Given the description of an element on the screen output the (x, y) to click on. 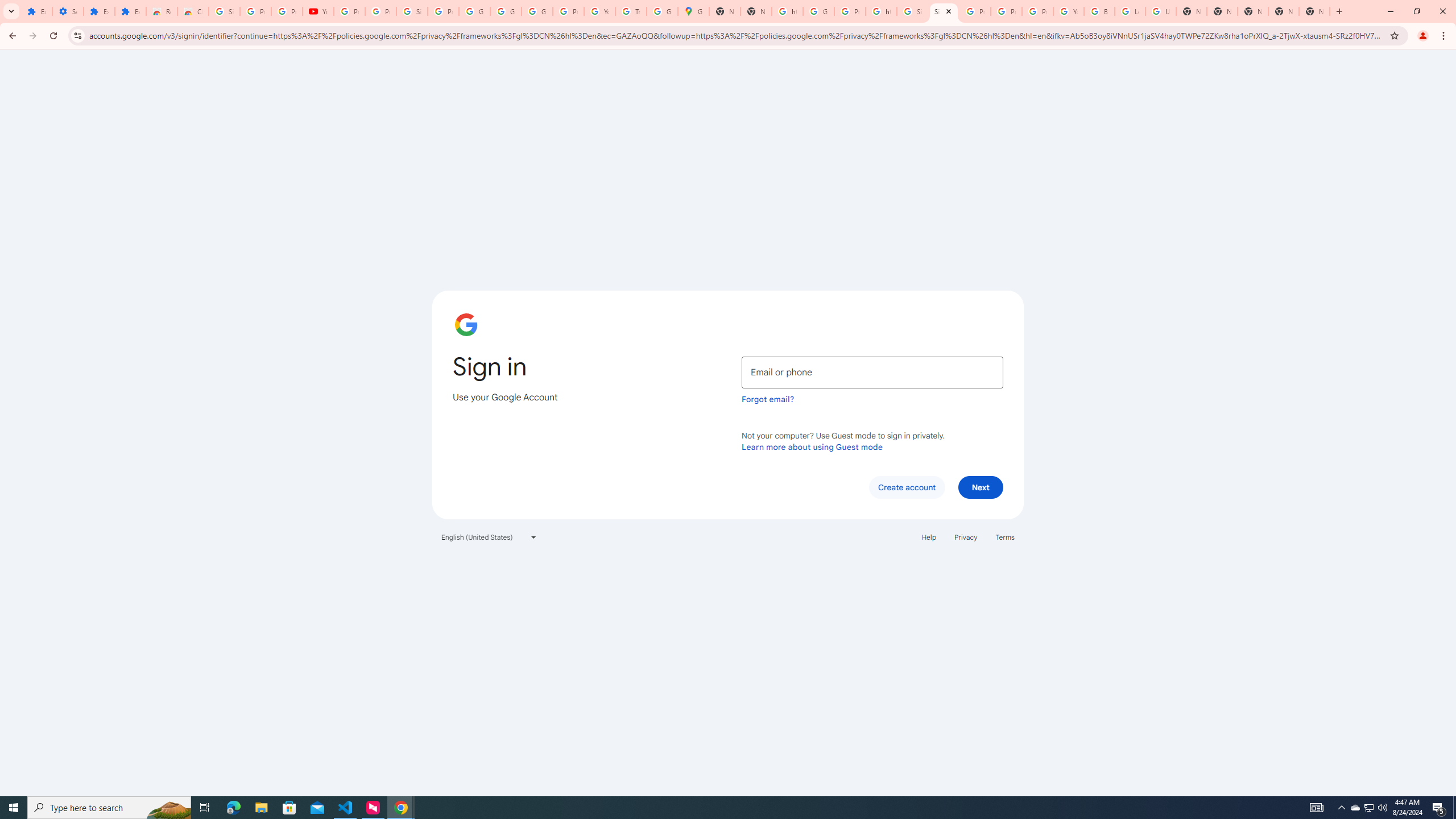
Chrome Web Store - Themes (192, 11)
Extensions (36, 11)
Privacy Help Center - Policies Help (974, 11)
YouTube (318, 11)
New Tab (1252, 11)
